Given the description of an element on the screen output the (x, y) to click on. 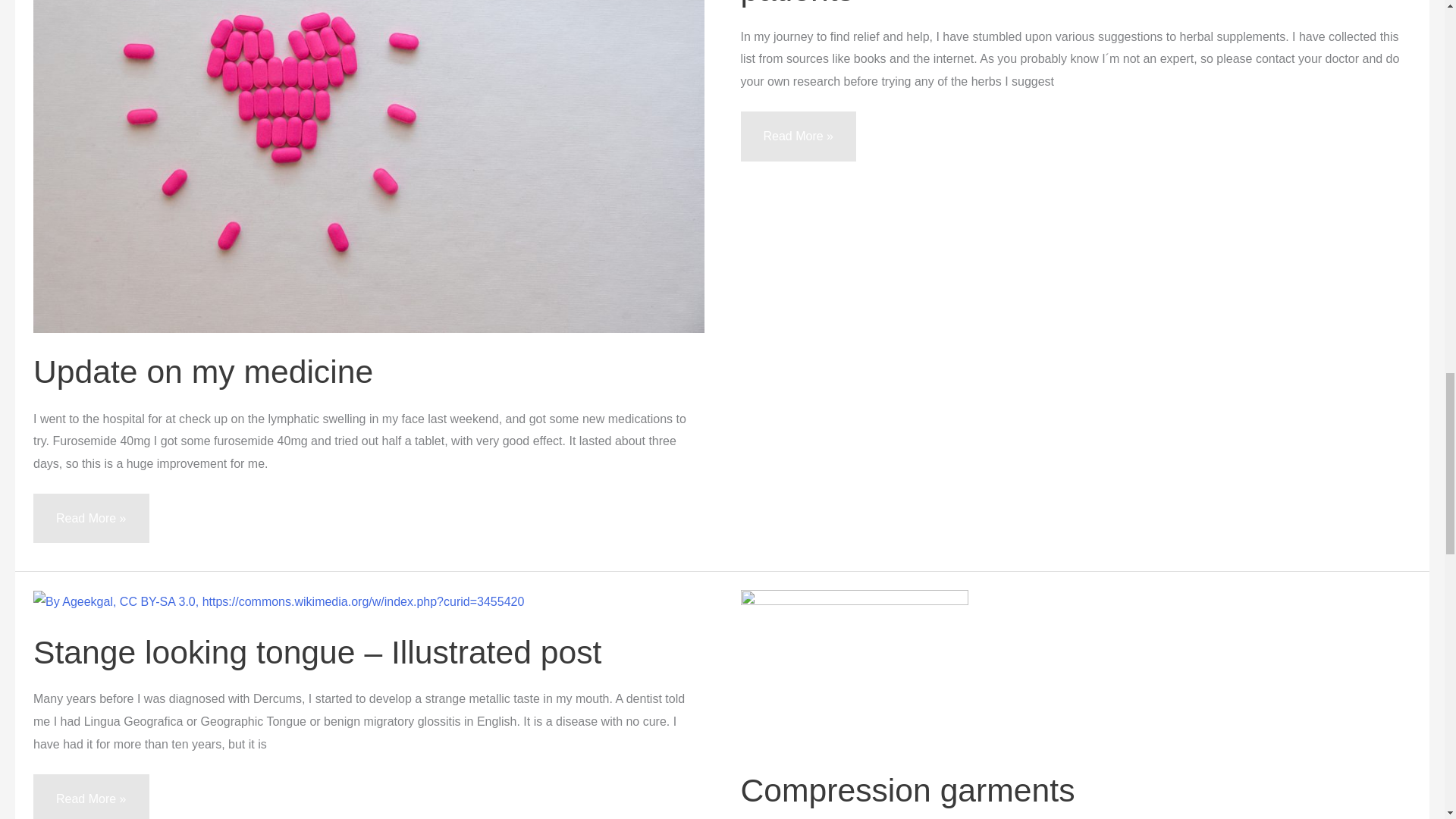
Update on my medicine (202, 370)
Herb supplements that may help Dercums patients (1041, 3)
Compression garments (906, 790)
